Given the description of an element on the screen output the (x, y) to click on. 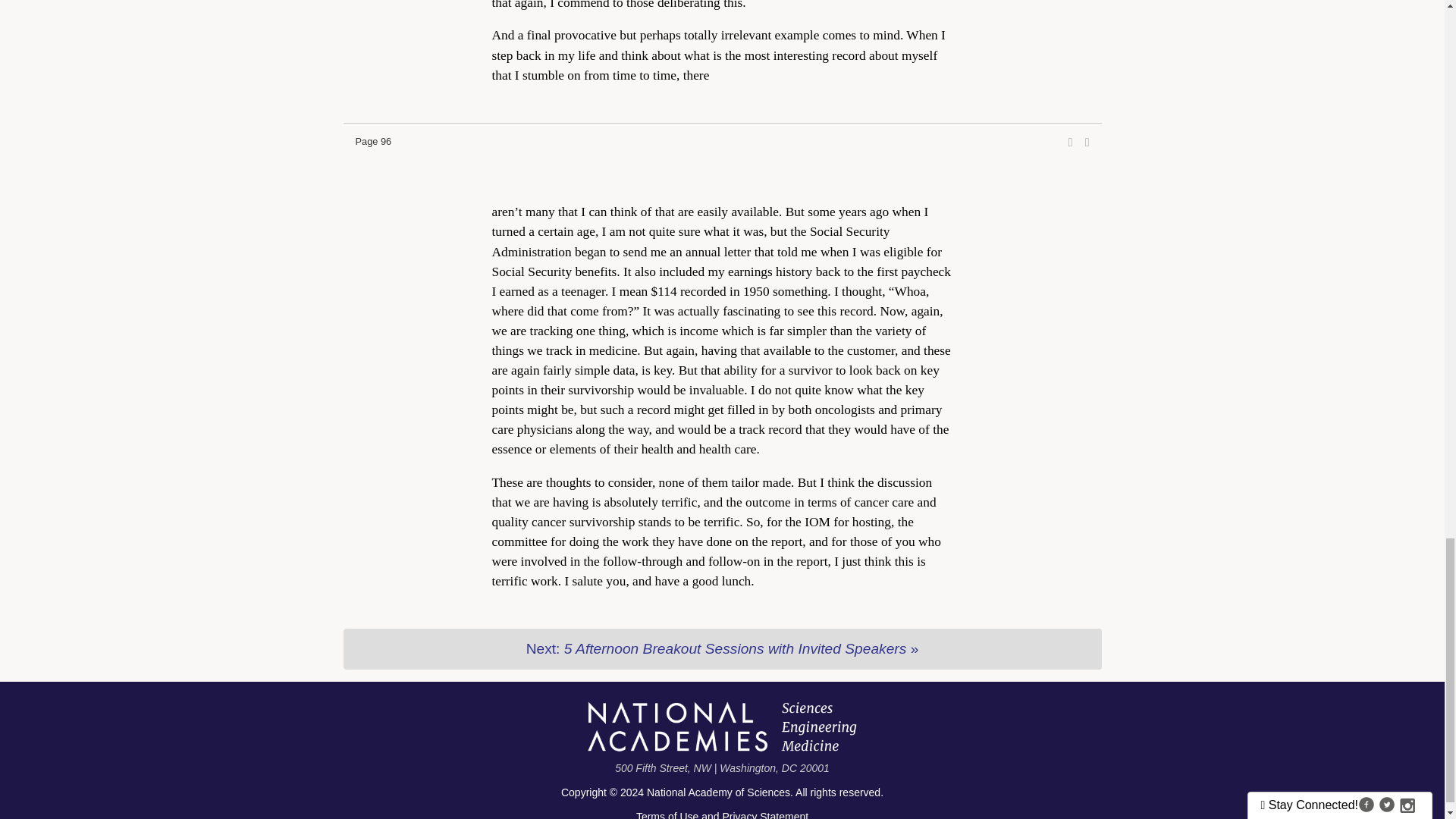
Next Chapter (721, 648)
